Given the description of an element on the screen output the (x, y) to click on. 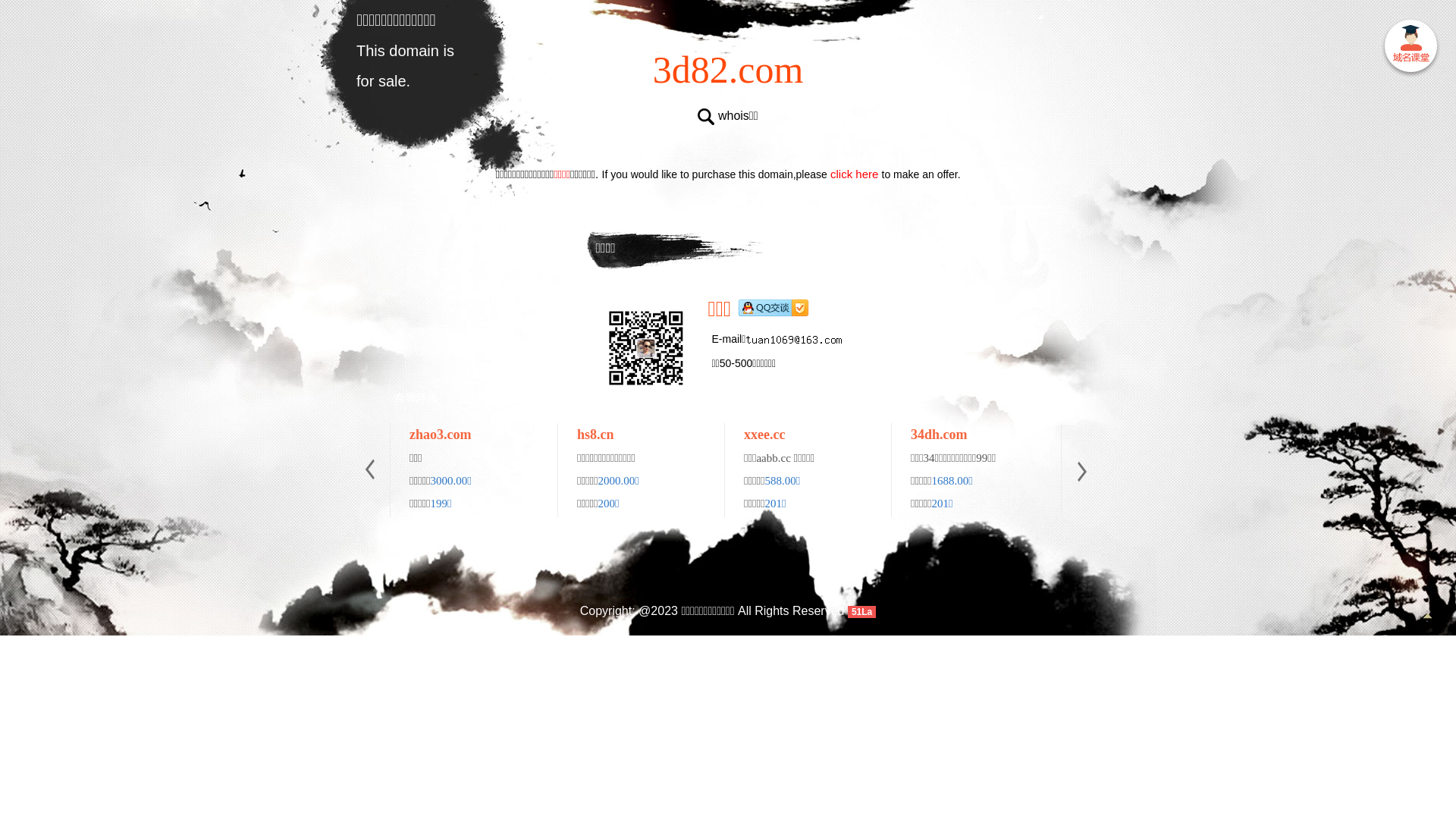
34dh.com Element type: text (938, 434)
zhao3.com Element type: text (439, 434)
xxee.cc Element type: text (763, 434)
51La Element type: text (861, 610)
haizhixing.com Element type: text (1121, 434)
  Element type: text (1410, 48)
hs8.cn Element type: text (595, 434)
hlyg.com Element type: text (1270, 434)
click here Element type: text (854, 173)
